Given the description of an element on the screen output the (x, y) to click on. 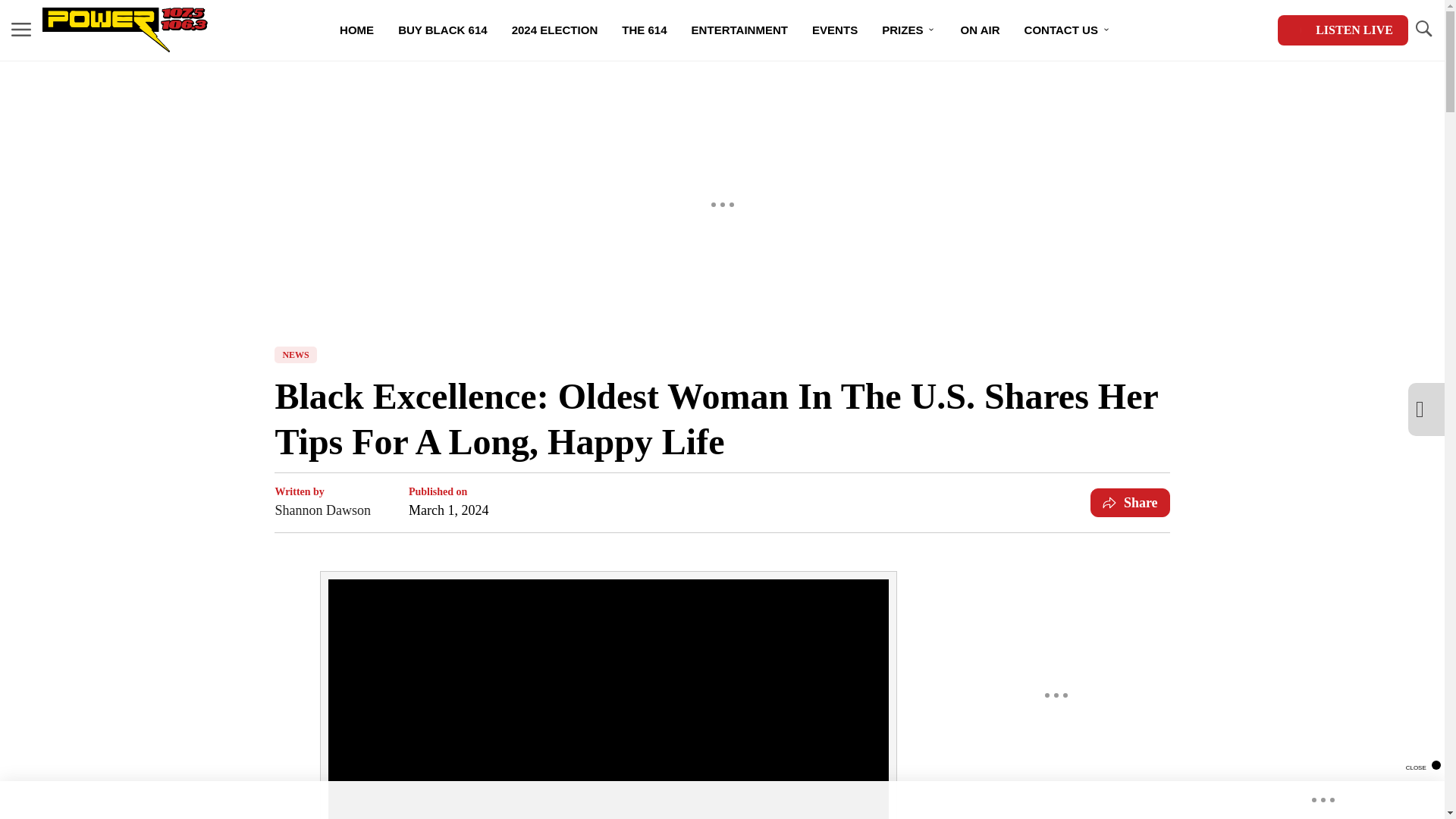
EVENTS (834, 30)
Share (1130, 502)
MENU (20, 30)
Shannon Dawson (323, 509)
LISTEN LIVE (1342, 30)
ENTERTAINMENT (739, 30)
MENU (20, 29)
PRIZES (908, 30)
THE 614 (644, 30)
TOGGLE SEARCH (1422, 30)
